Given the description of an element on the screen output the (x, y) to click on. 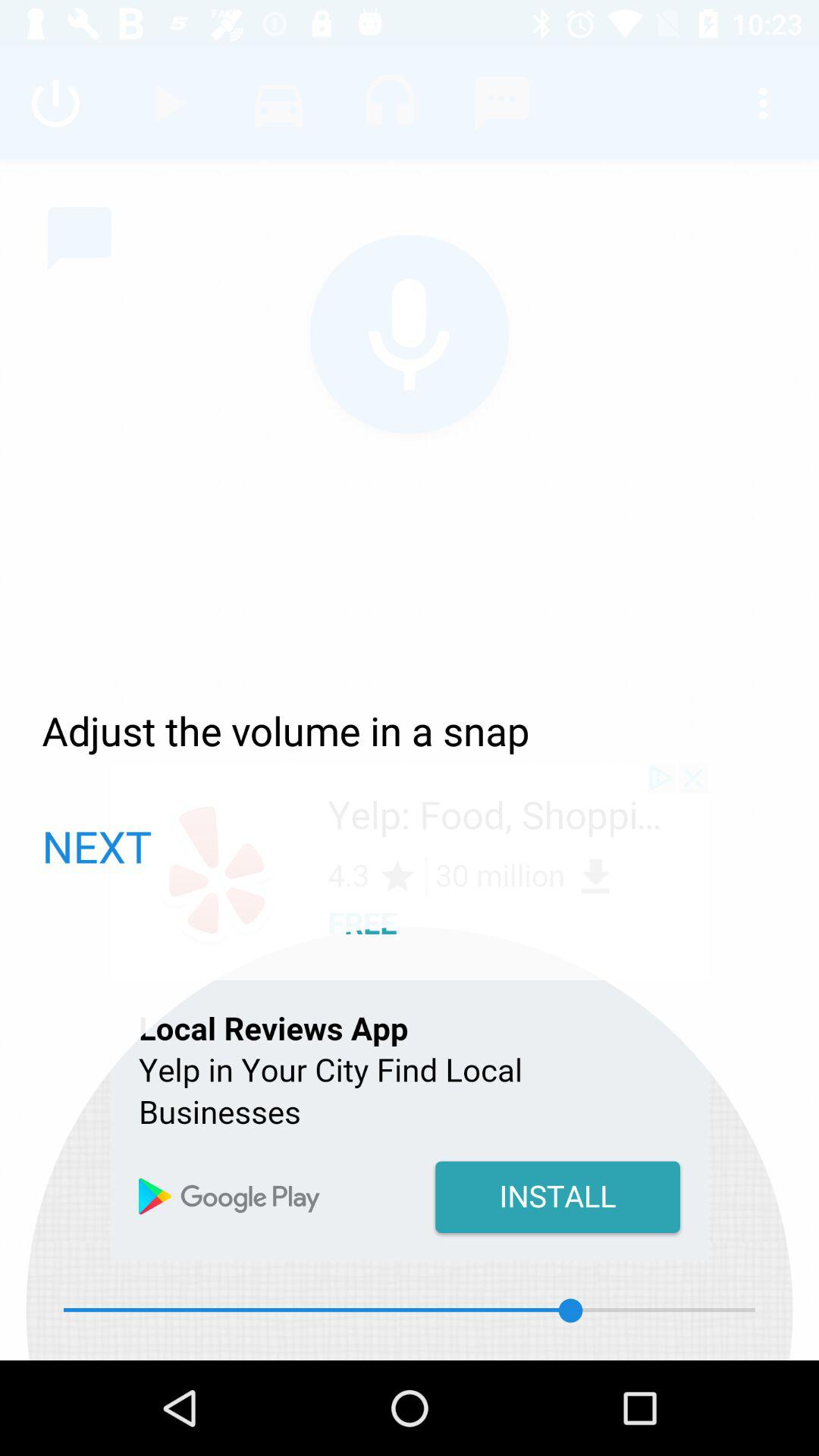
click message icon (79, 238)
